Given the description of an element on the screen output the (x, y) to click on. 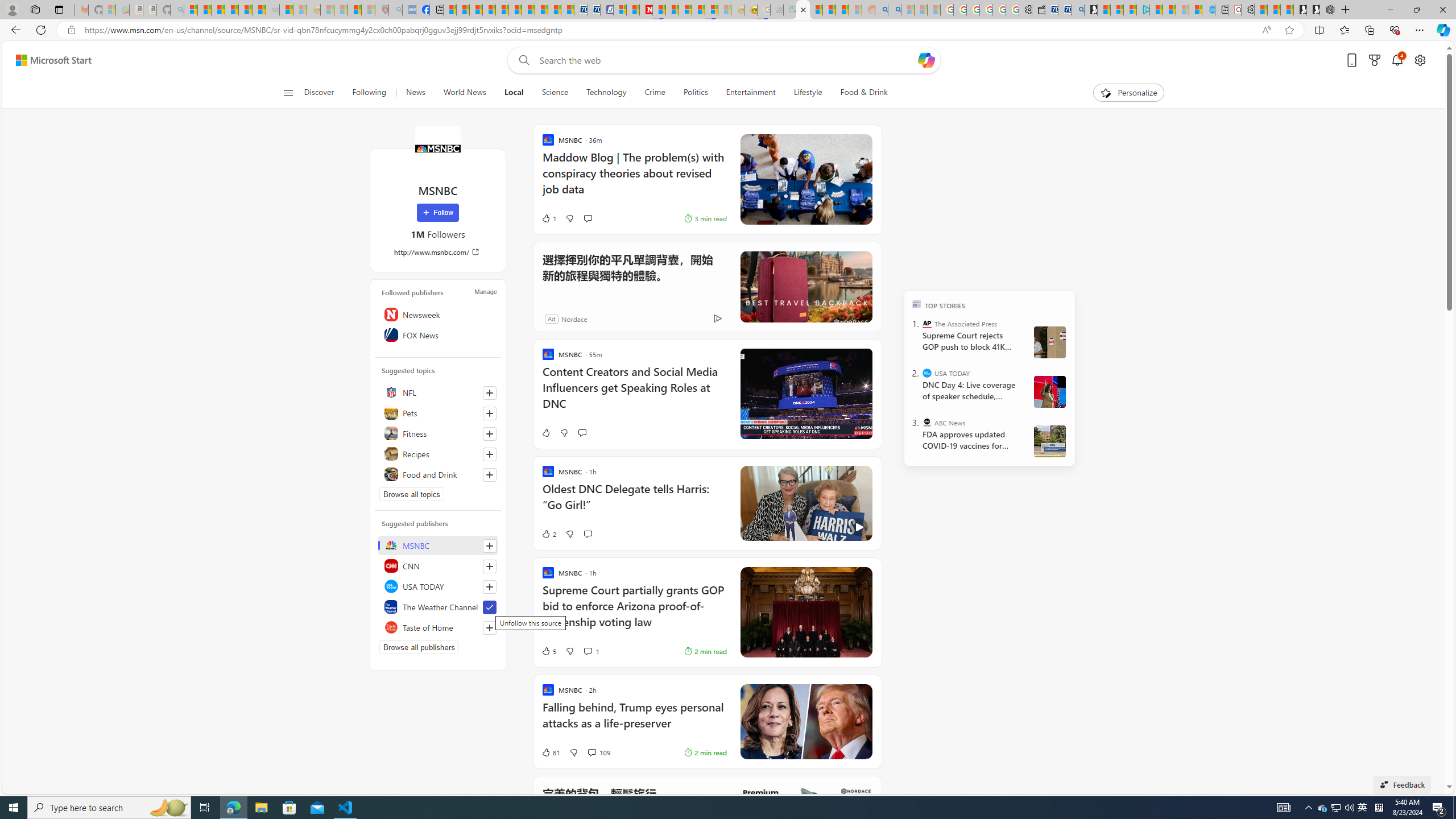
Class: hero-image (805, 503)
Like (544, 432)
